Given the description of an element on the screen output the (x, y) to click on. 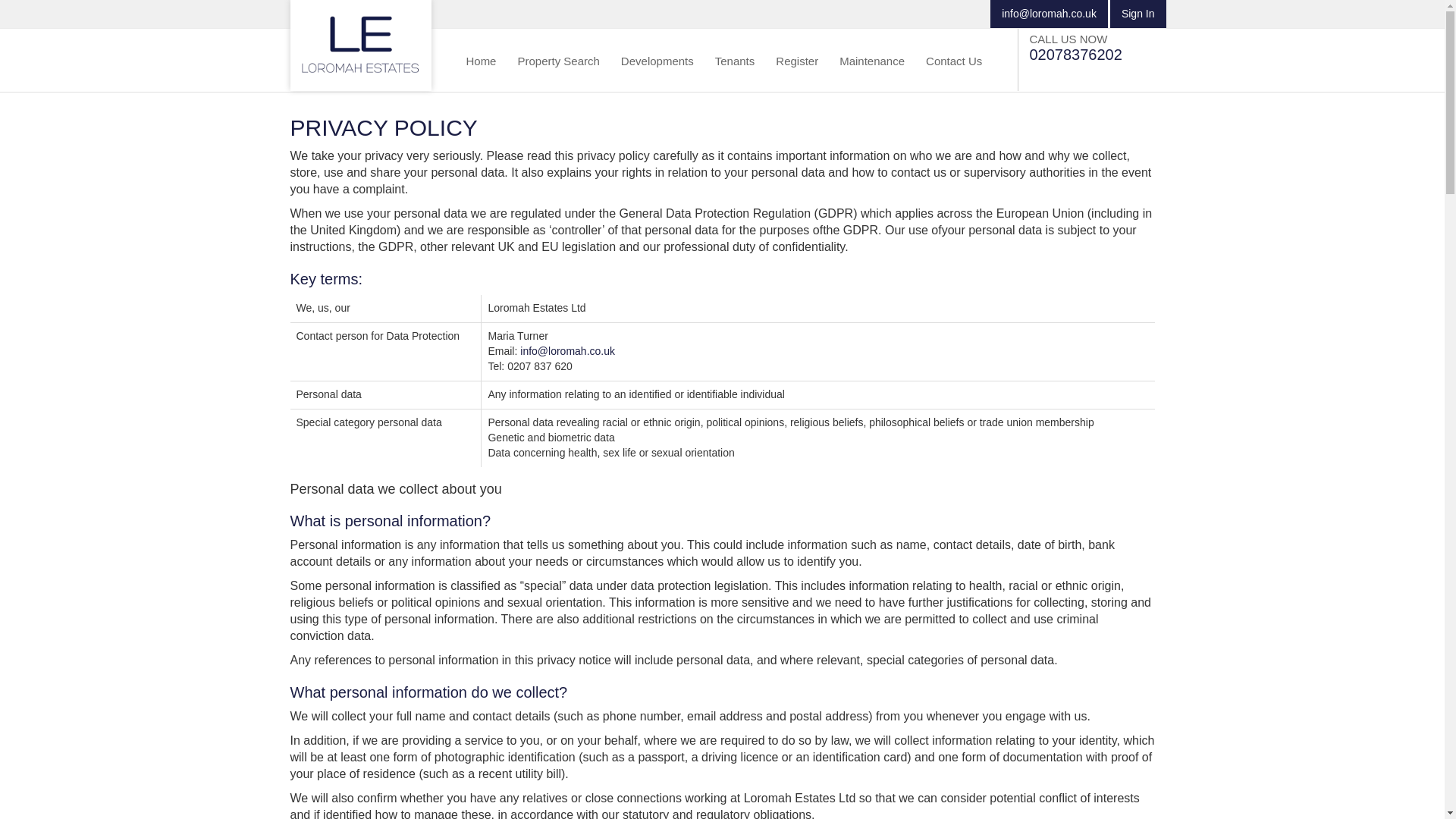
Contact Us (953, 59)
Sign In (1137, 13)
Developments (657, 59)
Maintenance (872, 59)
Property Search (558, 59)
Tenants (735, 59)
Register (797, 59)
